Given the description of an element on the screen output the (x, y) to click on. 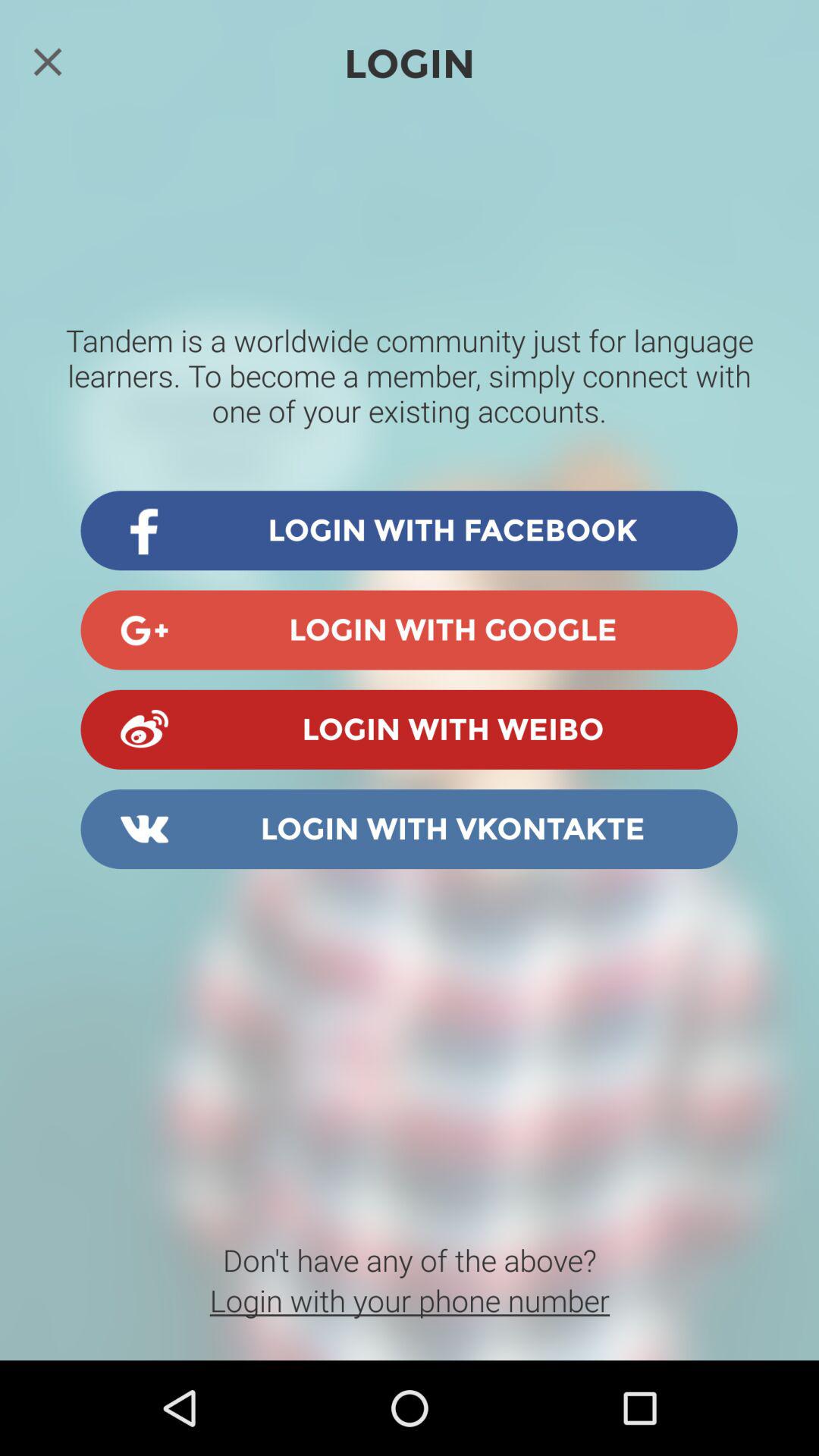
close button (47, 61)
